Given the description of an element on the screen output the (x, y) to click on. 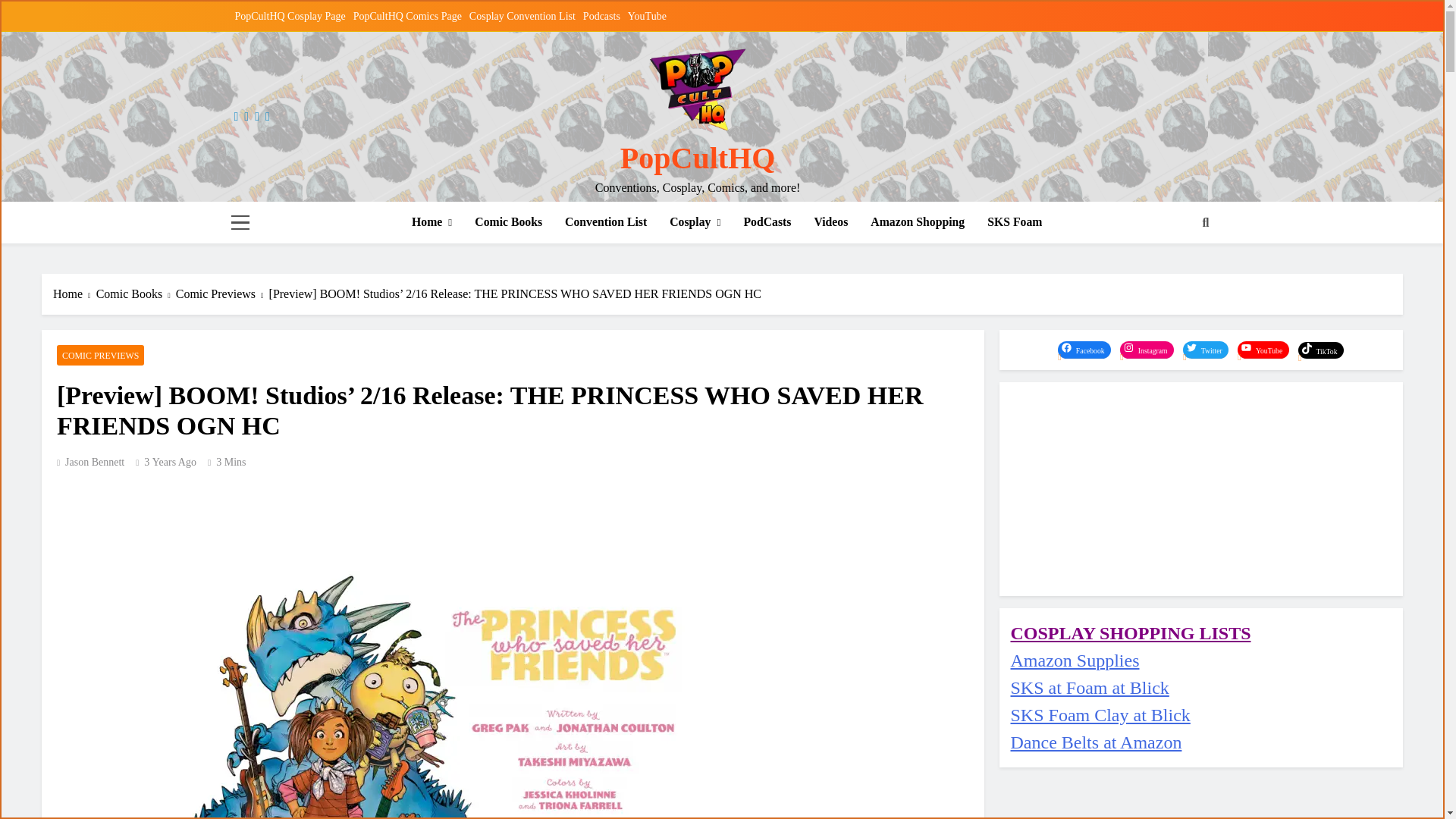
YouTube (646, 16)
Home (431, 222)
Convention List (605, 221)
PopCultHQ Comics Page (407, 16)
Cosplay (695, 222)
PopCultHQ (697, 157)
Cosplay Convention List (521, 16)
Home (74, 294)
SKS Foam (1013, 221)
Amazon Shopping (917, 221)
